Given the description of an element on the screen output the (x, y) to click on. 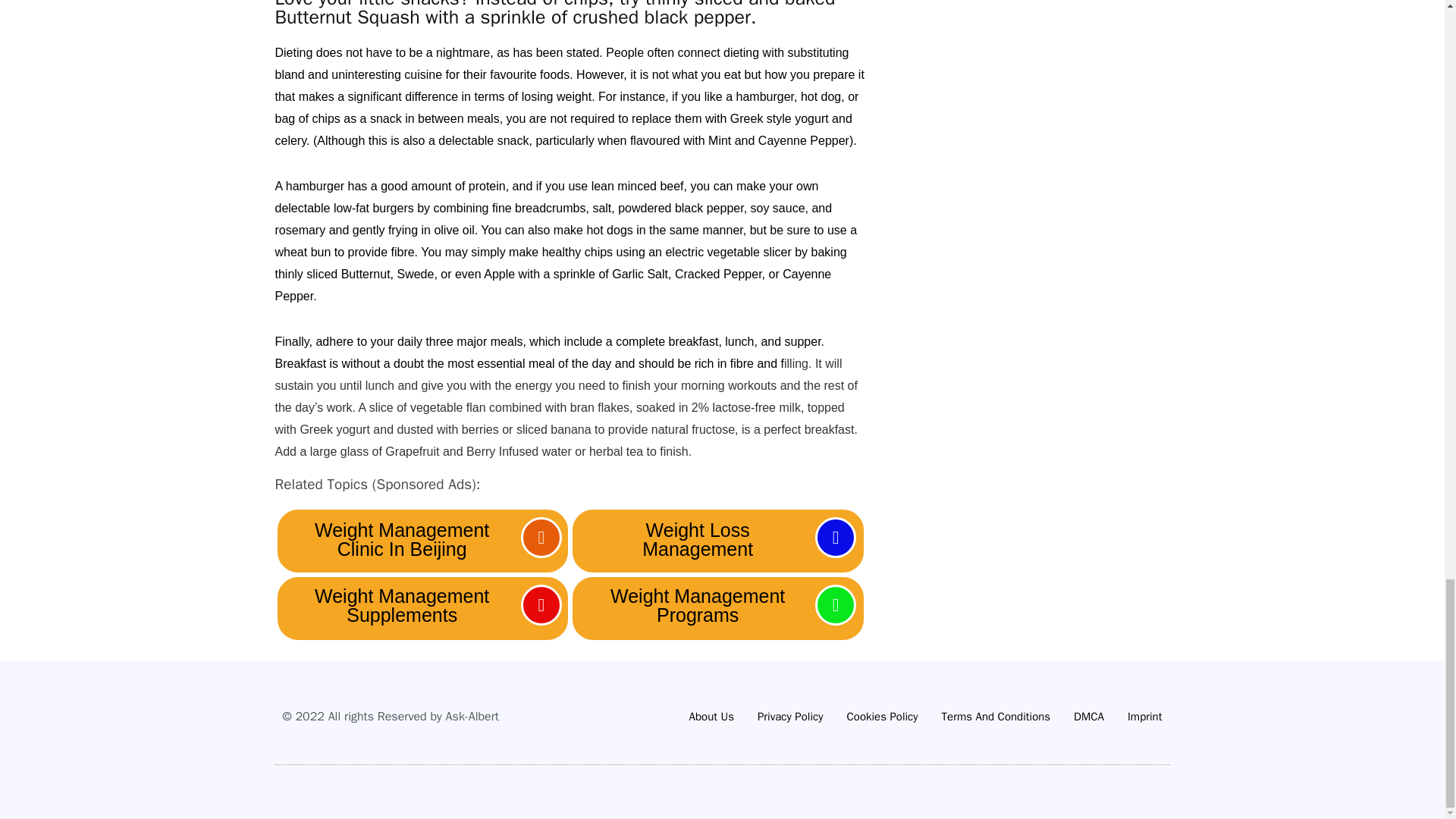
Weight Management Clinic In Beijing (402, 538)
Weight Management Supplements (402, 605)
Weight Loss Management (697, 538)
Weight Management Programs (697, 605)
